Given the description of an element on the screen output the (x, y) to click on. 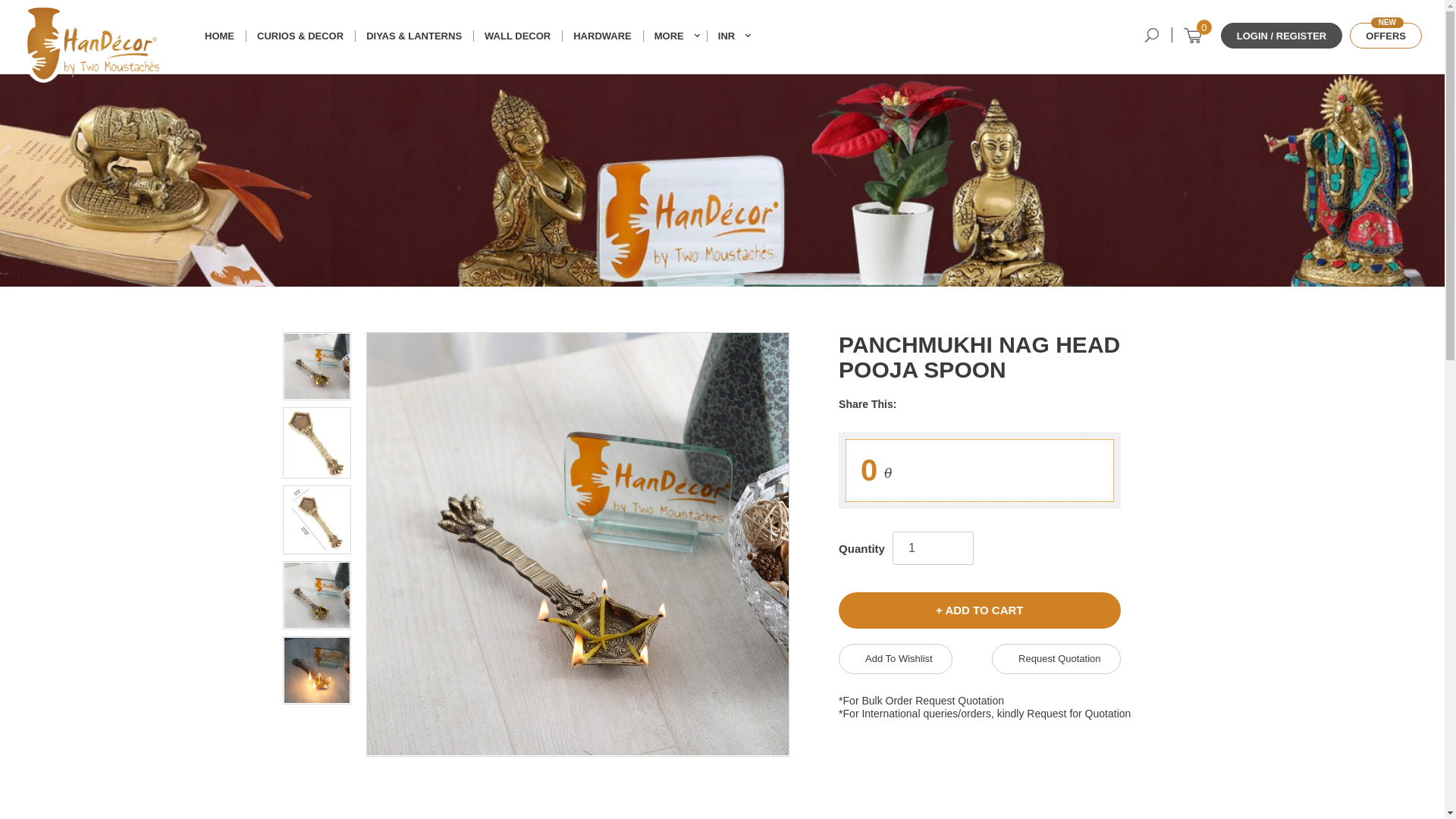
HOME (219, 36)
HARDWARE (602, 36)
INR (731, 36)
Request Quotation (1055, 658)
0 (1192, 35)
Add To Wishlist (895, 658)
1 (922, 548)
WALL DECOR (1385, 35)
MORE (517, 36)
